Given the description of an element on the screen output the (x, y) to click on. 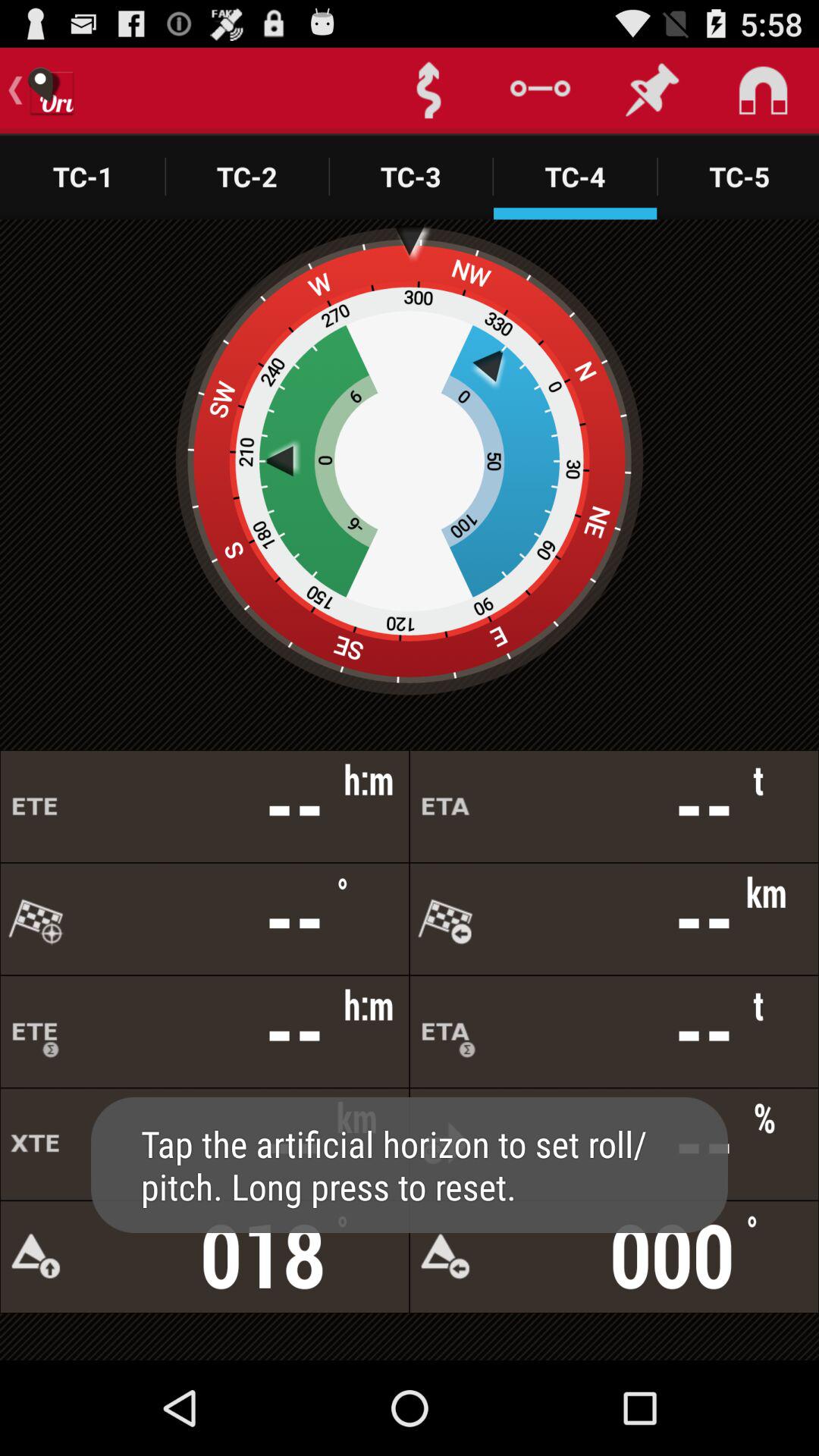
select the text in a third row second column (614, 1031)
select the second pin icon from top right side (651, 90)
click on tc3 (411, 176)
click on tc2 option (247, 176)
click on magnet icon (763, 90)
